Given the description of an element on the screen output the (x, y) to click on. 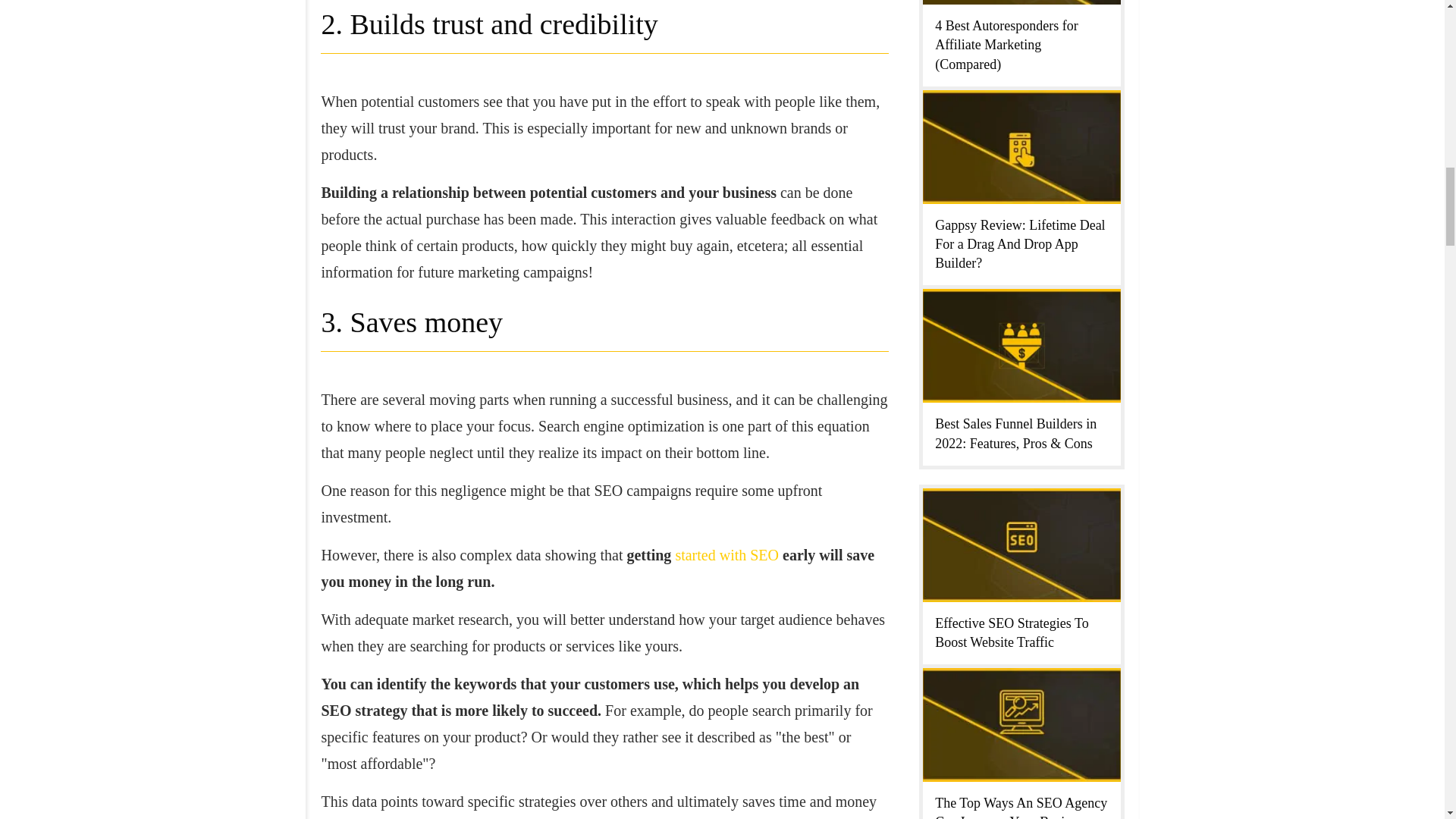
Effective SEO Strategies To Boost Website Traffic (1011, 632)
The Top Ways An SEO Agency Can Improve Your Business Growth (1020, 807)
